Given the description of an element on the screen output the (x, y) to click on. 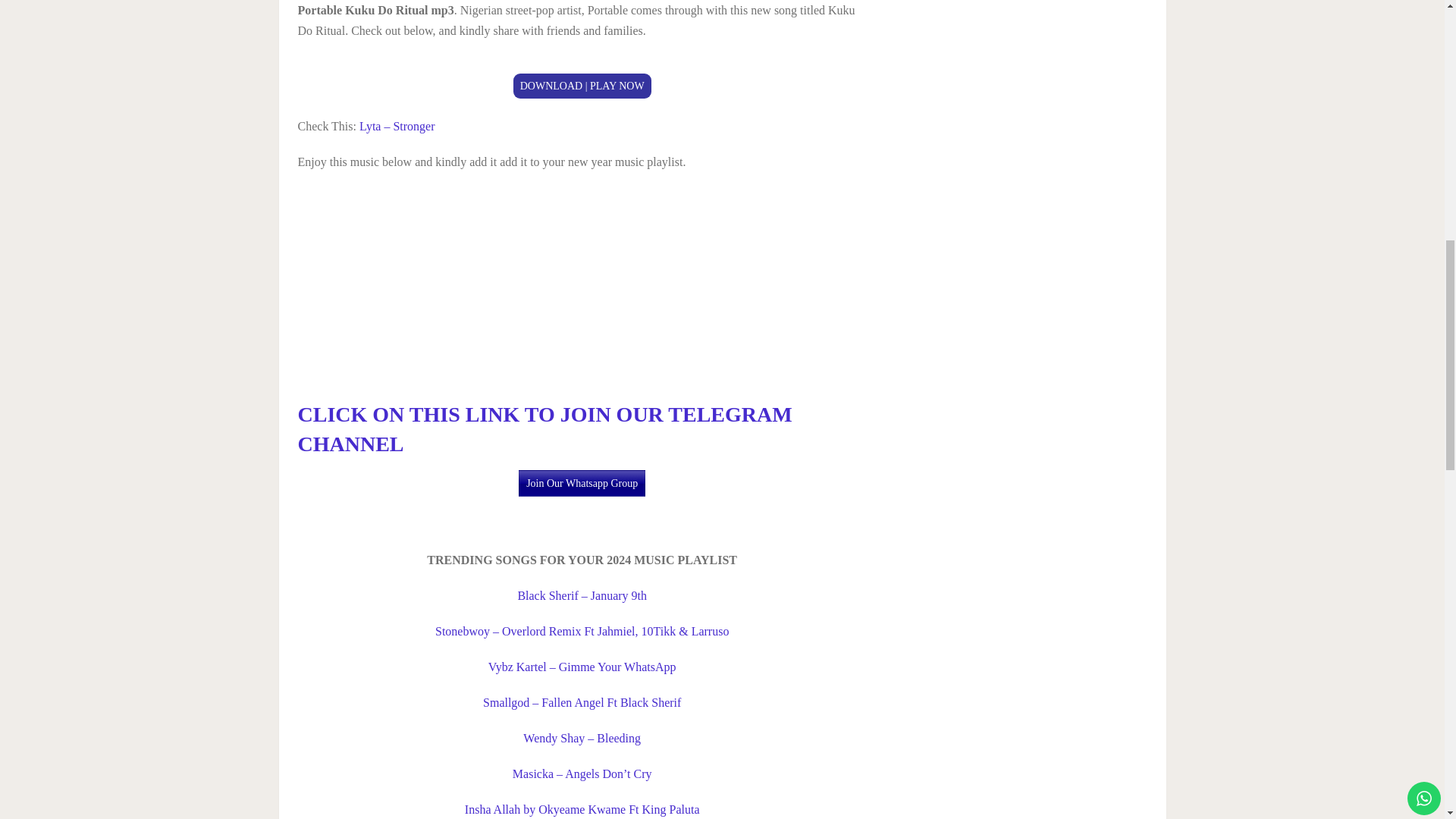
CLICK ON THIS LINK TO JOIN OUR TELEGRAM CHANNEL (544, 428)
Join Our Whatsapp Group (581, 483)
Insha Allah by Okyeame Kwame Ft King Paluta (582, 809)
